Given the description of an element on the screen output the (x, y) to click on. 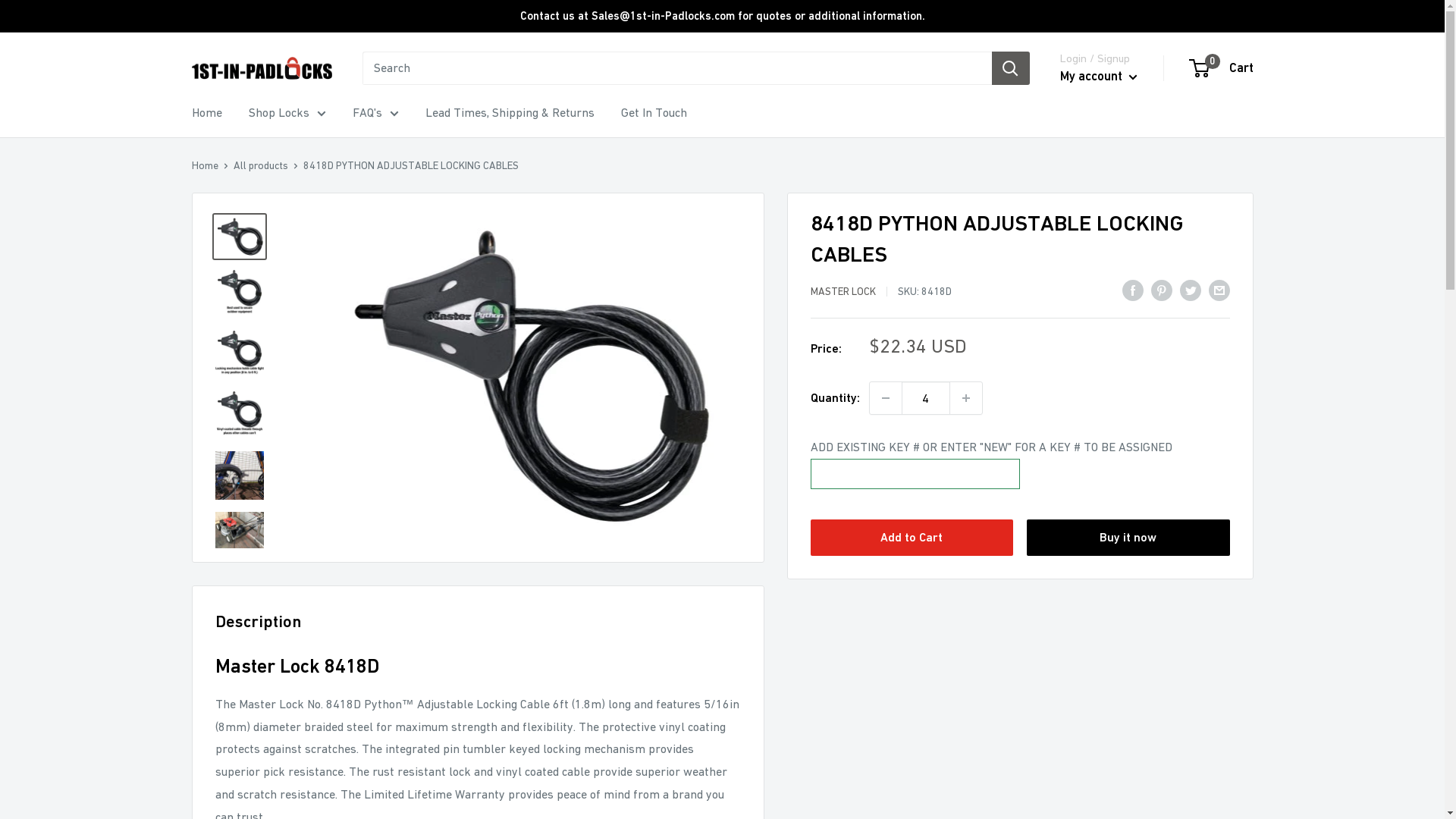
Add to Cart Element type: text (911, 537)
My account Element type: text (1098, 76)
Buy it now Element type: text (1128, 537)
Home Element type: text (204, 165)
1st-in-Padlocks Element type: text (261, 68)
Decrease quantity by 1 Element type: hover (884, 398)
0
Cart Element type: text (1221, 68)
Get In Touch Element type: text (653, 112)
MASTER LOCK Element type: text (842, 291)
Home Element type: text (206, 112)
FAQ's Element type: text (374, 112)
Shop Locks Element type: text (287, 112)
All products Element type: text (260, 165)
Increase quantity by 1 Element type: hover (965, 398)
Lead Times, Shipping & Returns Element type: text (508, 112)
